Given the description of an element on the screen output the (x, y) to click on. 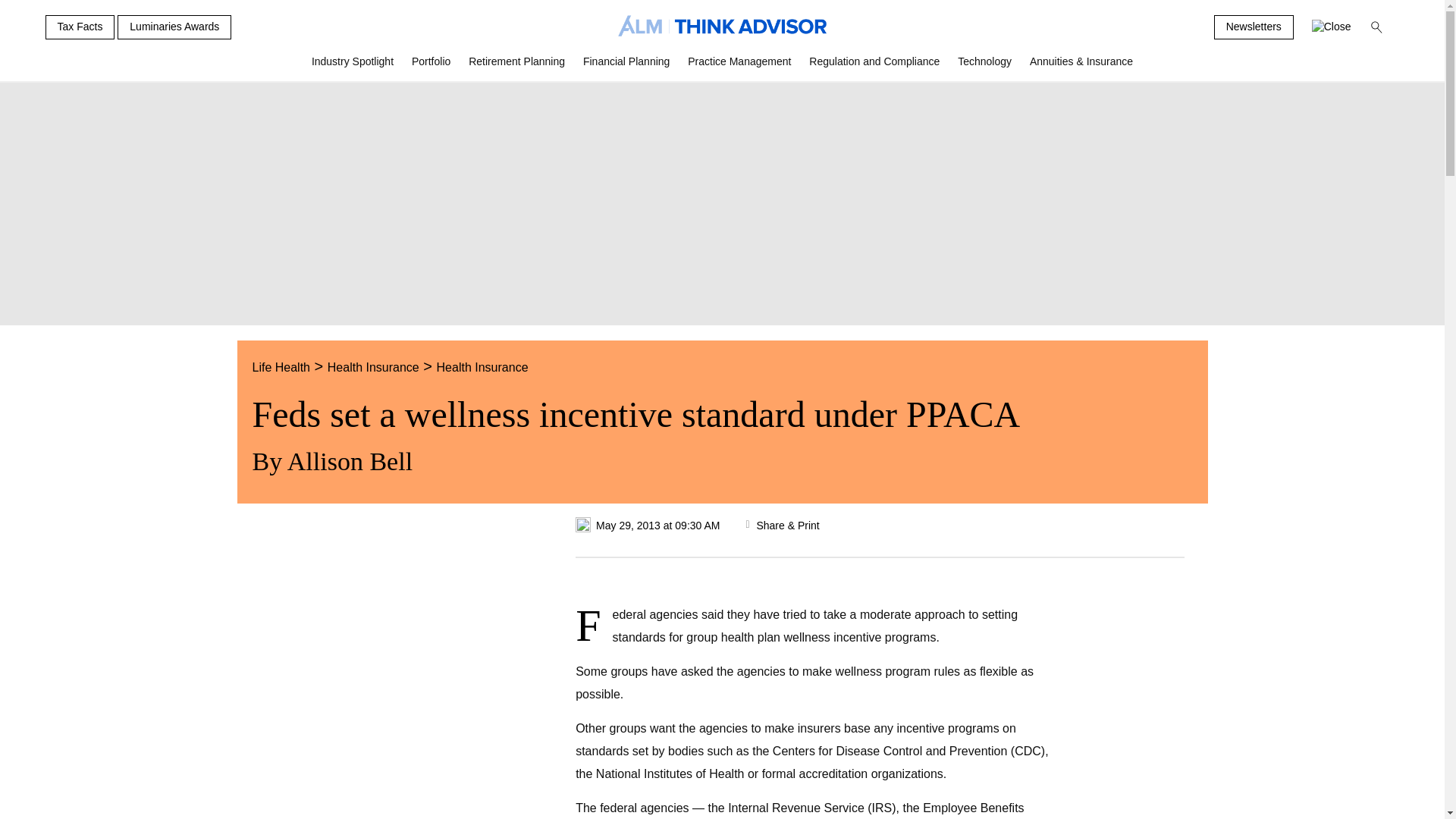
Luminaries Awards (174, 27)
Industry Spotlight (352, 67)
Newsletters (1254, 27)
Tax Facts (80, 27)
